Given the description of an element on the screen output the (x, y) to click on. 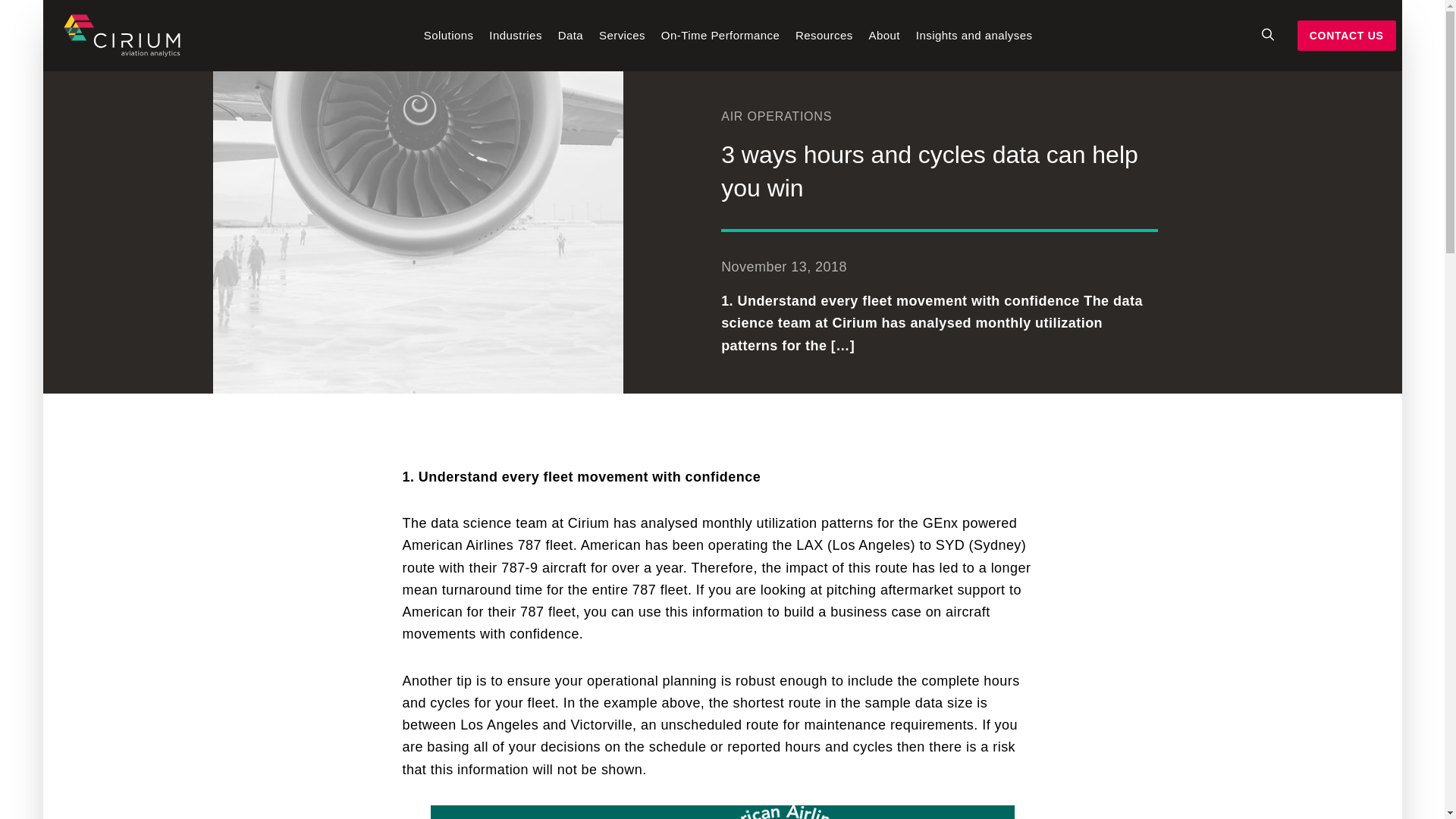
Cirium (120, 35)
Solutions (448, 50)
CONTACT US (1346, 35)
